Given the description of an element on the screen output the (x, y) to click on. 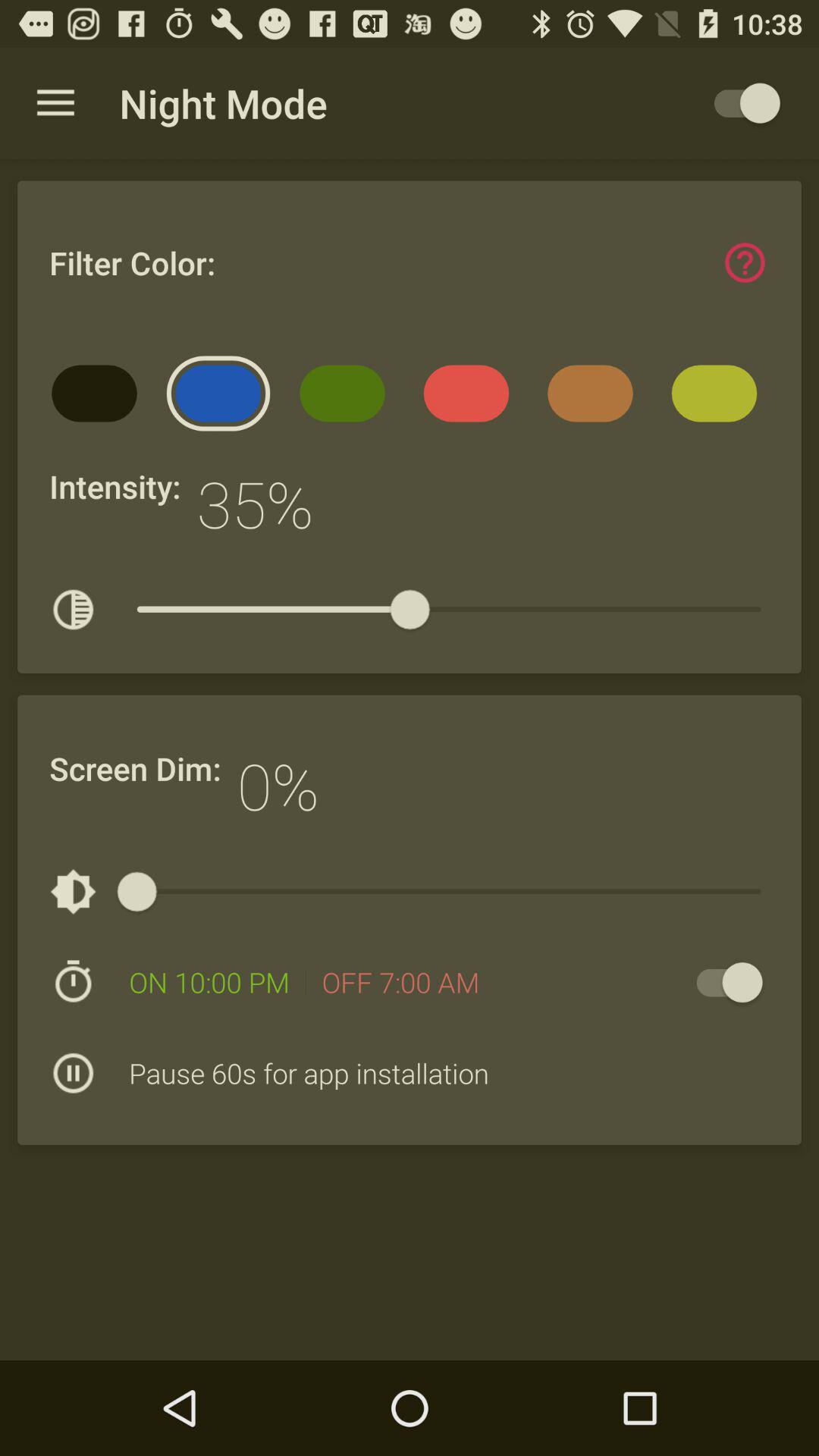
press item above pause 60s for icon (400, 982)
